Given the description of an element on the screen output the (x, y) to click on. 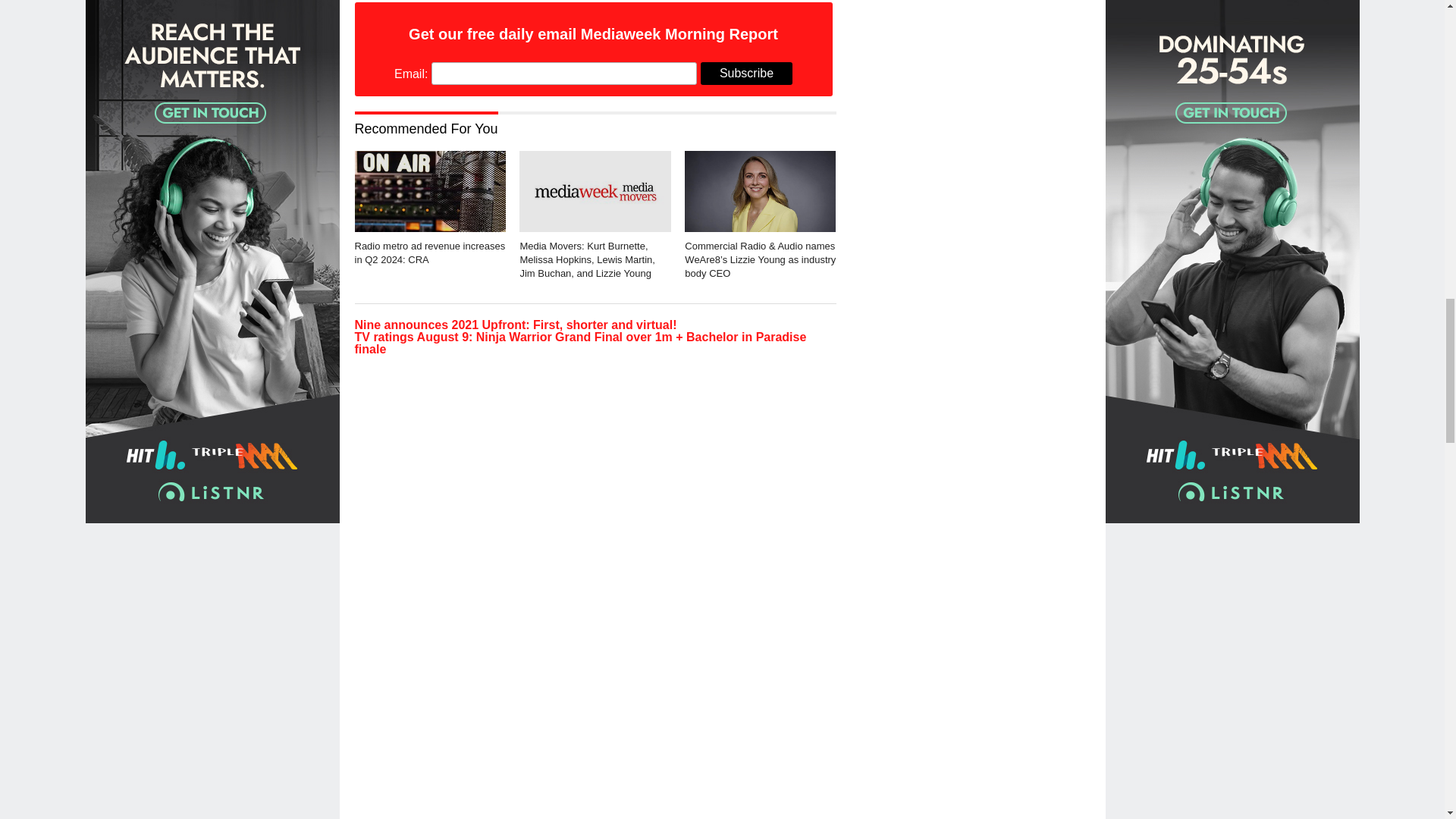
Subscribe (746, 73)
Radio metro ad revenue increases in Q2 2024: CRA (430, 227)
